Given the description of an element on the screen output the (x, y) to click on. 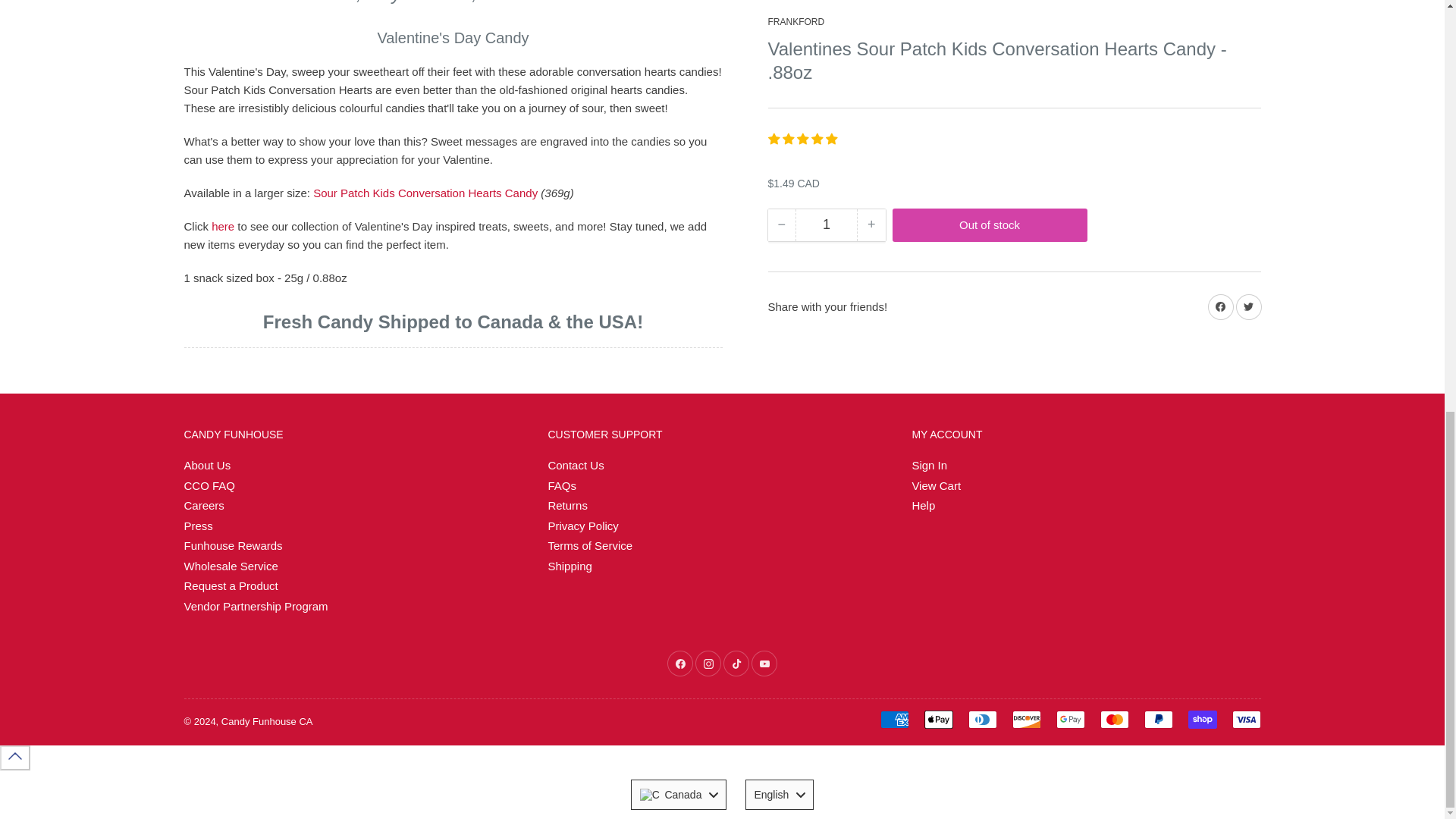
Apple Pay (937, 719)
American Express (893, 719)
Diners Club (981, 719)
Discover (1026, 719)
